Given the description of an element on the screen output the (x, y) to click on. 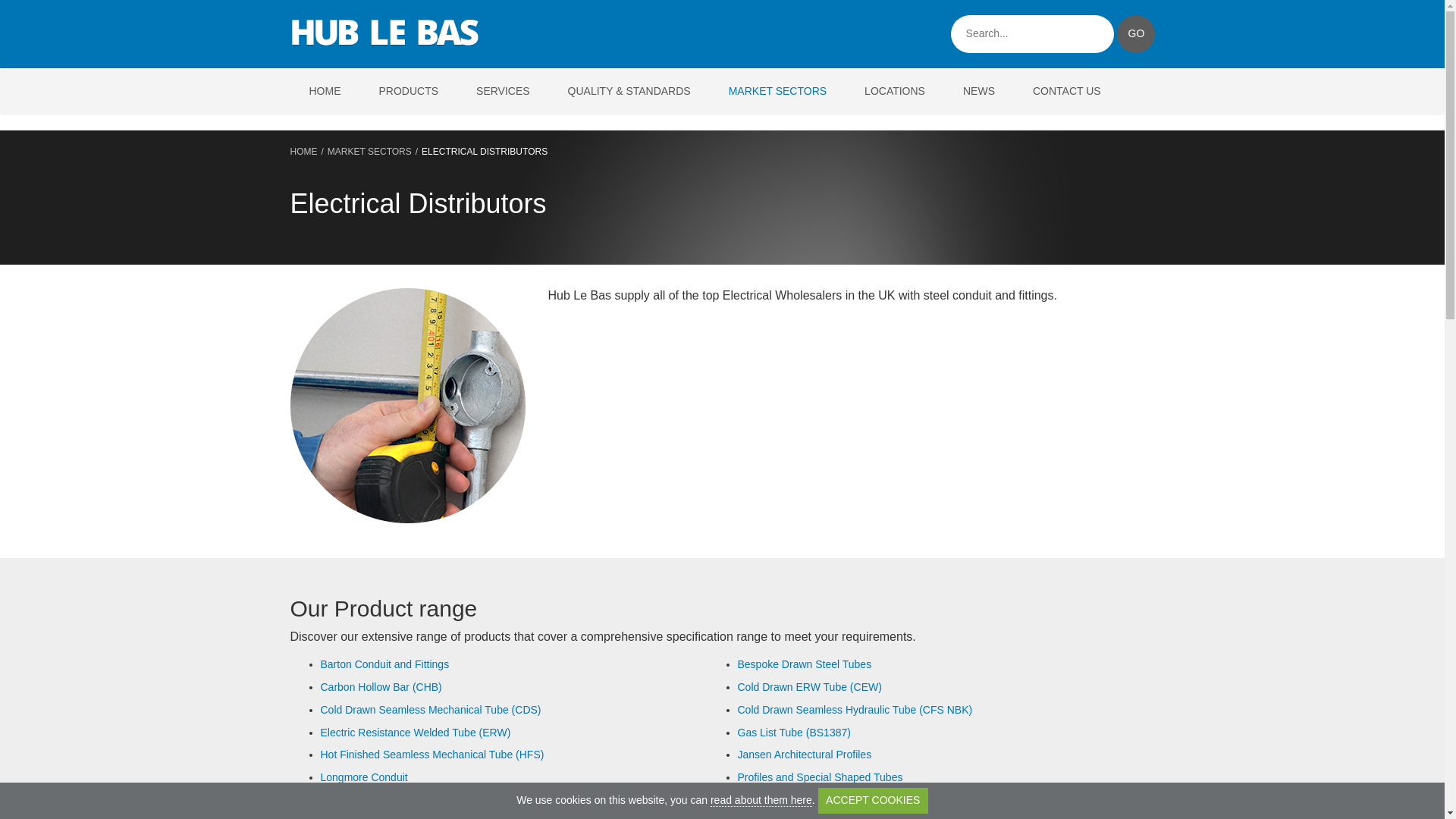
Bespoke Drawn Steel Tubes (803, 664)
Welded Steel Conduit Tubes (803, 817)
MARKET SECTORS (777, 91)
Jansen Architectural Profiles (803, 754)
Go (1135, 34)
Stainless Steel Tube (368, 799)
HOME (324, 91)
Barton Conduit and Fittings (384, 664)
Go (1135, 34)
Go (1135, 34)
